Given the description of an element on the screen output the (x, y) to click on. 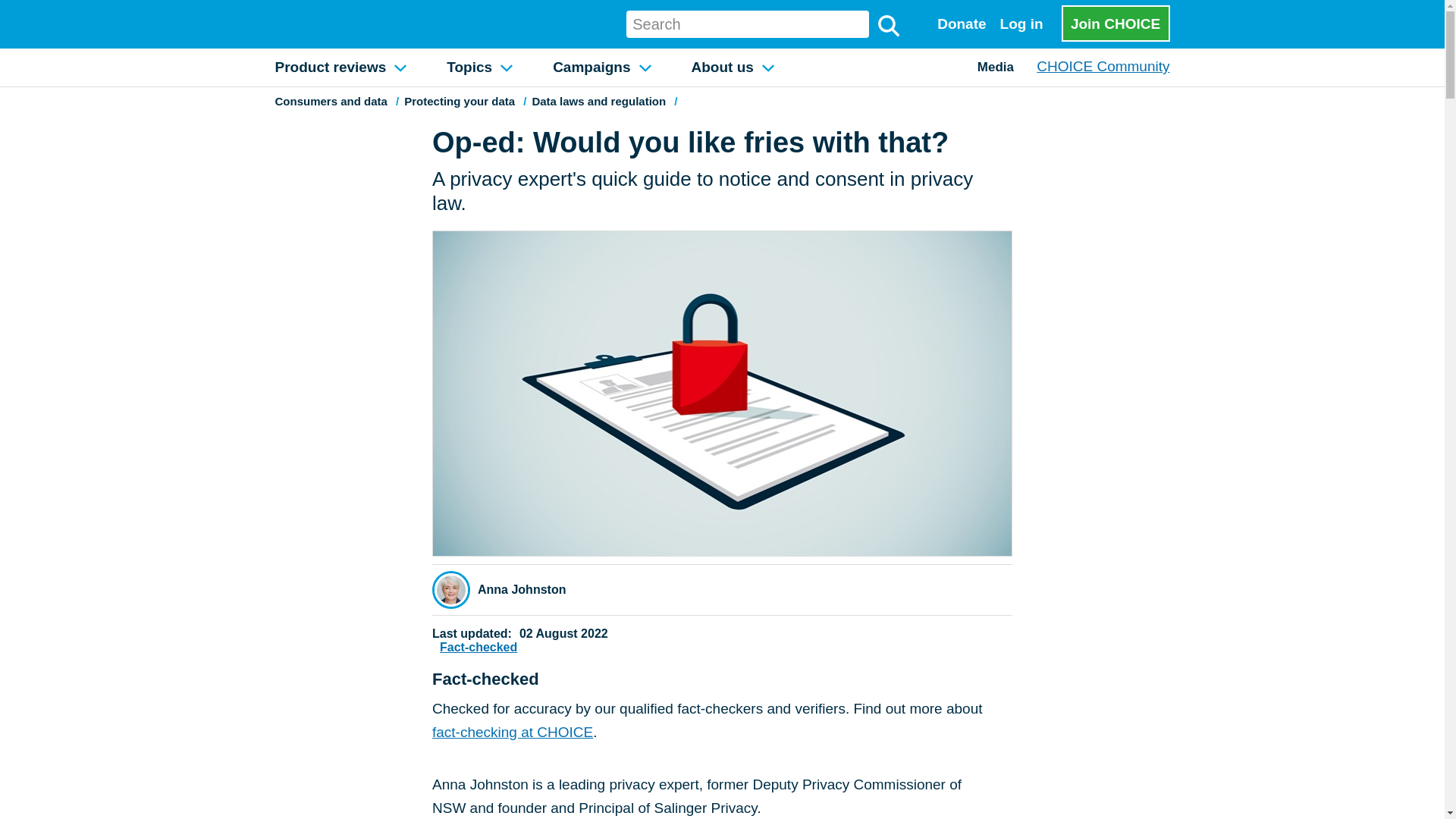
Data laws and regulation (598, 101)
Anna Johnston (521, 590)
Fact-checked (482, 647)
CHOICE Community (1102, 66)
Product reviews (339, 67)
Consumers and data (331, 101)
fact-checking at CHOICE (512, 731)
Donate (961, 24)
About us (732, 67)
Media (997, 67)
Protecting your data (459, 101)
Topics (478, 67)
Log in (1021, 24)
Join CHOICE (1115, 22)
Campaigns (600, 67)
